Given the description of an element on the screen output the (x, y) to click on. 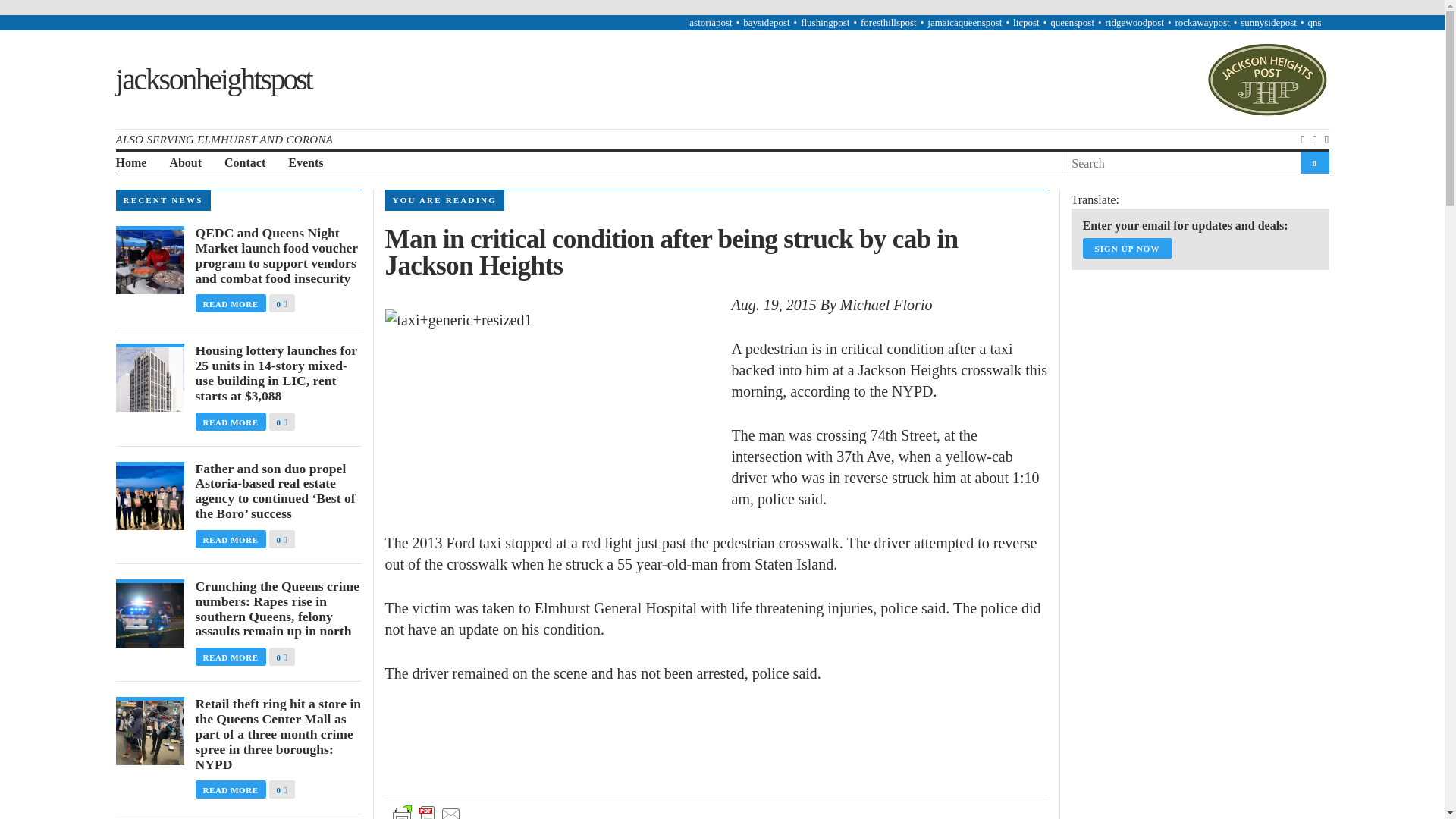
qns (1313, 21)
rockawaypost (1201, 21)
sunnysidepost (1268, 21)
ridgewoodpost (1134, 21)
Events (305, 163)
Contact (244, 163)
baysidepost (765, 21)
astoriapost (710, 21)
flushingpost (824, 21)
jacksonheightspost (213, 79)
About (185, 163)
licpost (1026, 21)
jamaicaqueenspost (964, 21)
foresthillspost (888, 21)
queenspost (1071, 21)
